Given the description of an element on the screen output the (x, y) to click on. 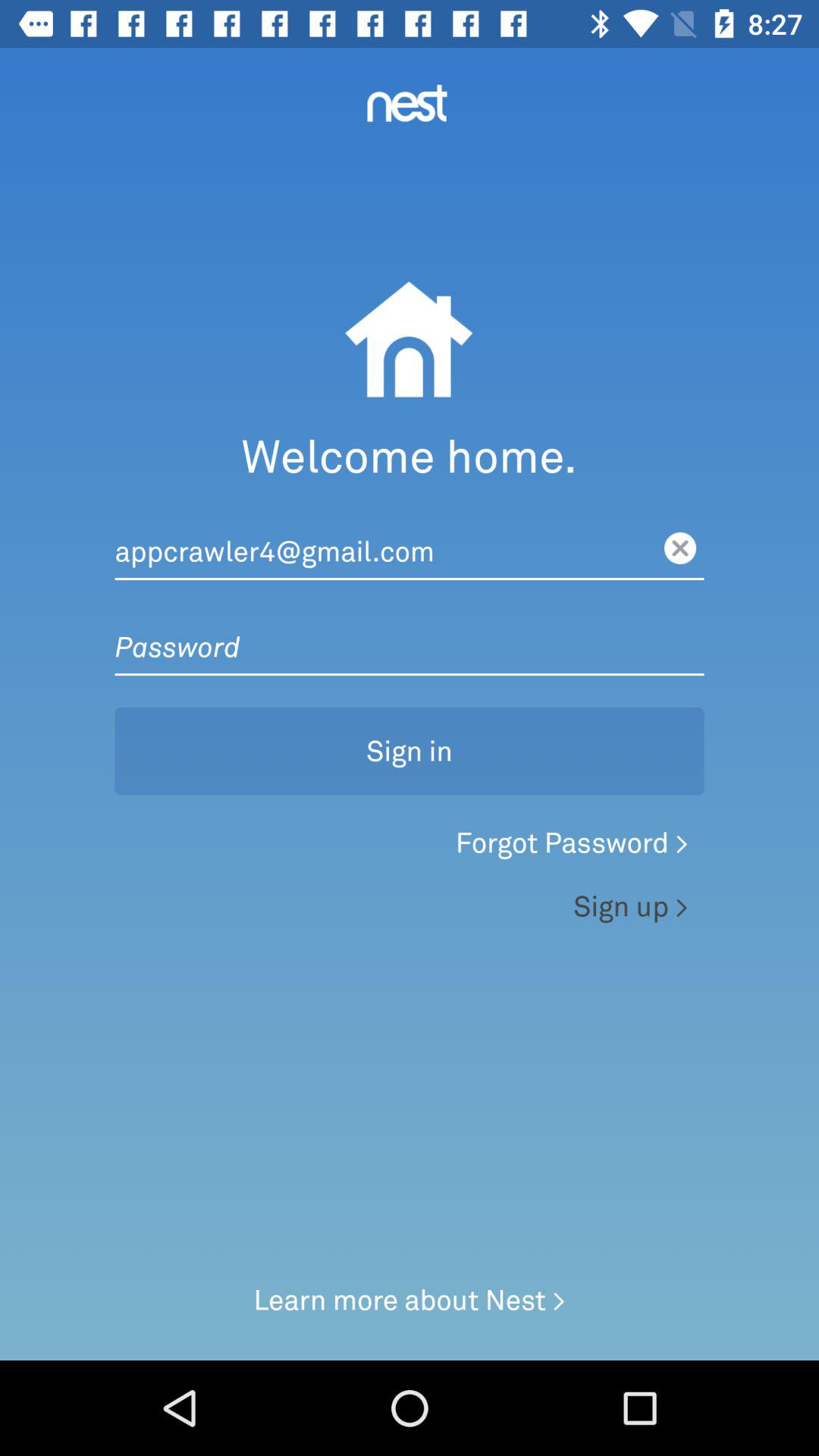
click on the icon next to appcrawler4gmailcom (680, 548)
click on nest (407, 103)
click on the button below sign in (409, 847)
click on password text field (409, 631)
click on the button below welcome home (409, 536)
click the sign in button on the web page (409, 727)
click the sign in button on the web page (409, 727)
